Given the description of an element on the screen output the (x, y) to click on. 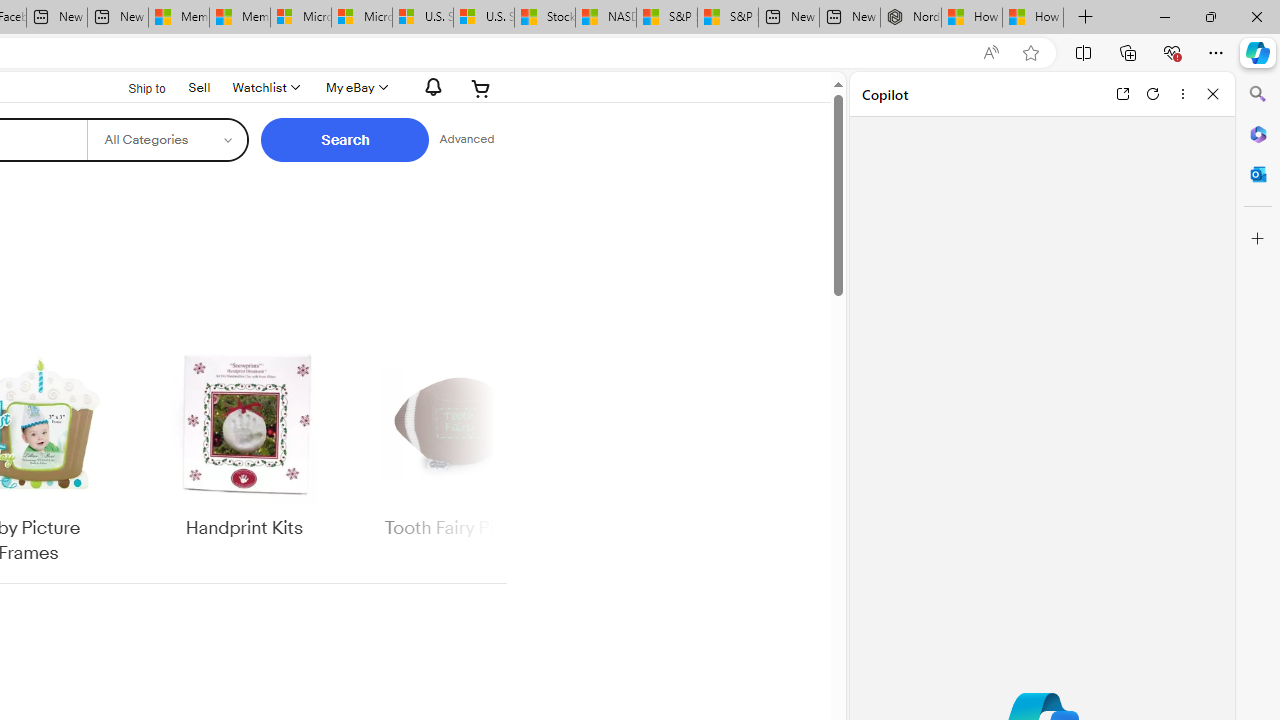
My eBayExpand My eBay (354, 88)
Sell (199, 87)
Select a category for search (167, 139)
Customize (1258, 239)
Notifications (427, 87)
S&P 500, Nasdaq end lower, weighed by Nvidia dip | Watch (727, 17)
Expand Cart (481, 88)
Go to next slide (493, 455)
Advanced Search (466, 139)
